Given the description of an element on the screen output the (x, y) to click on. 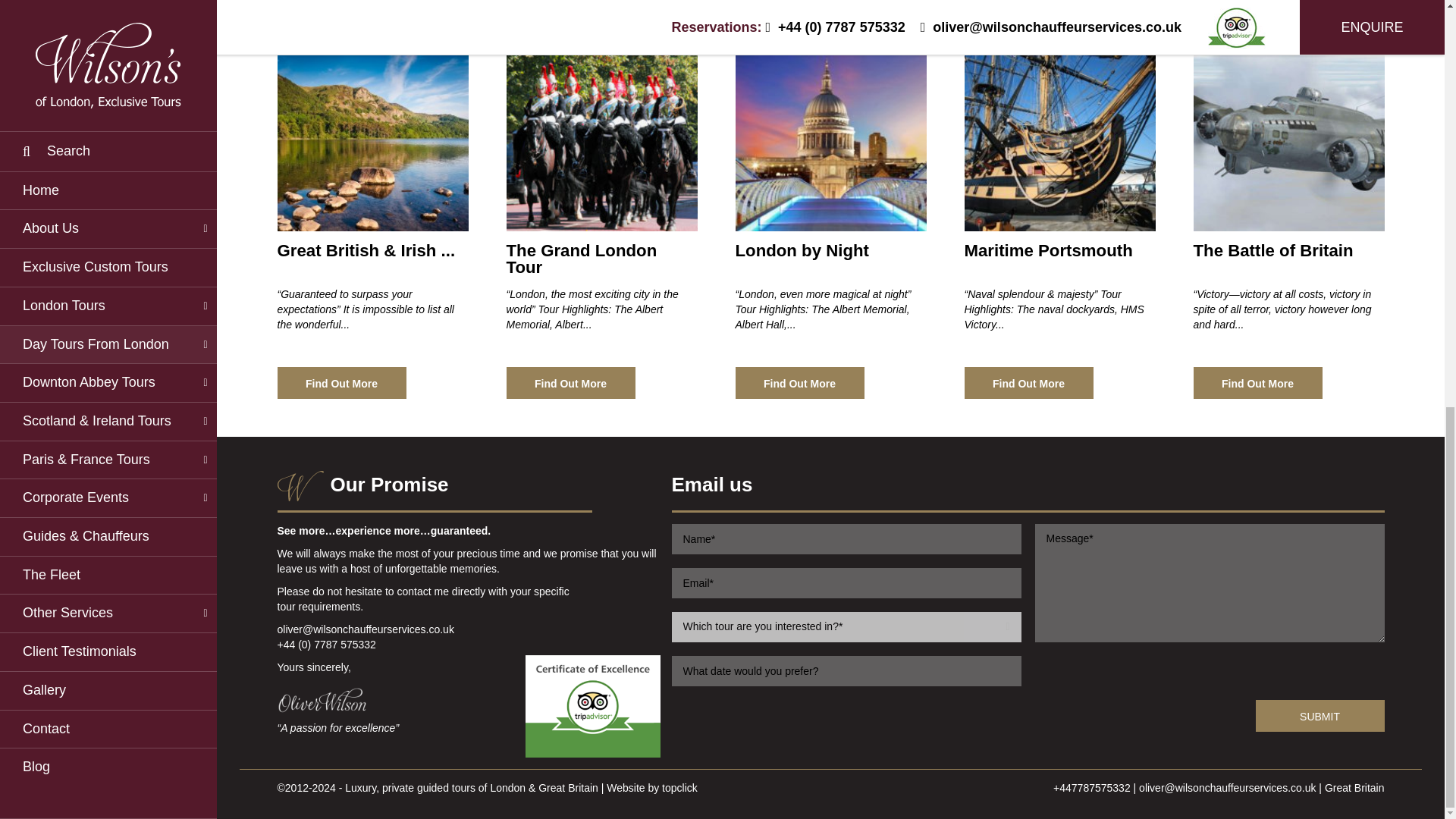
Submit (1319, 716)
